Given the description of an element on the screen output the (x, y) to click on. 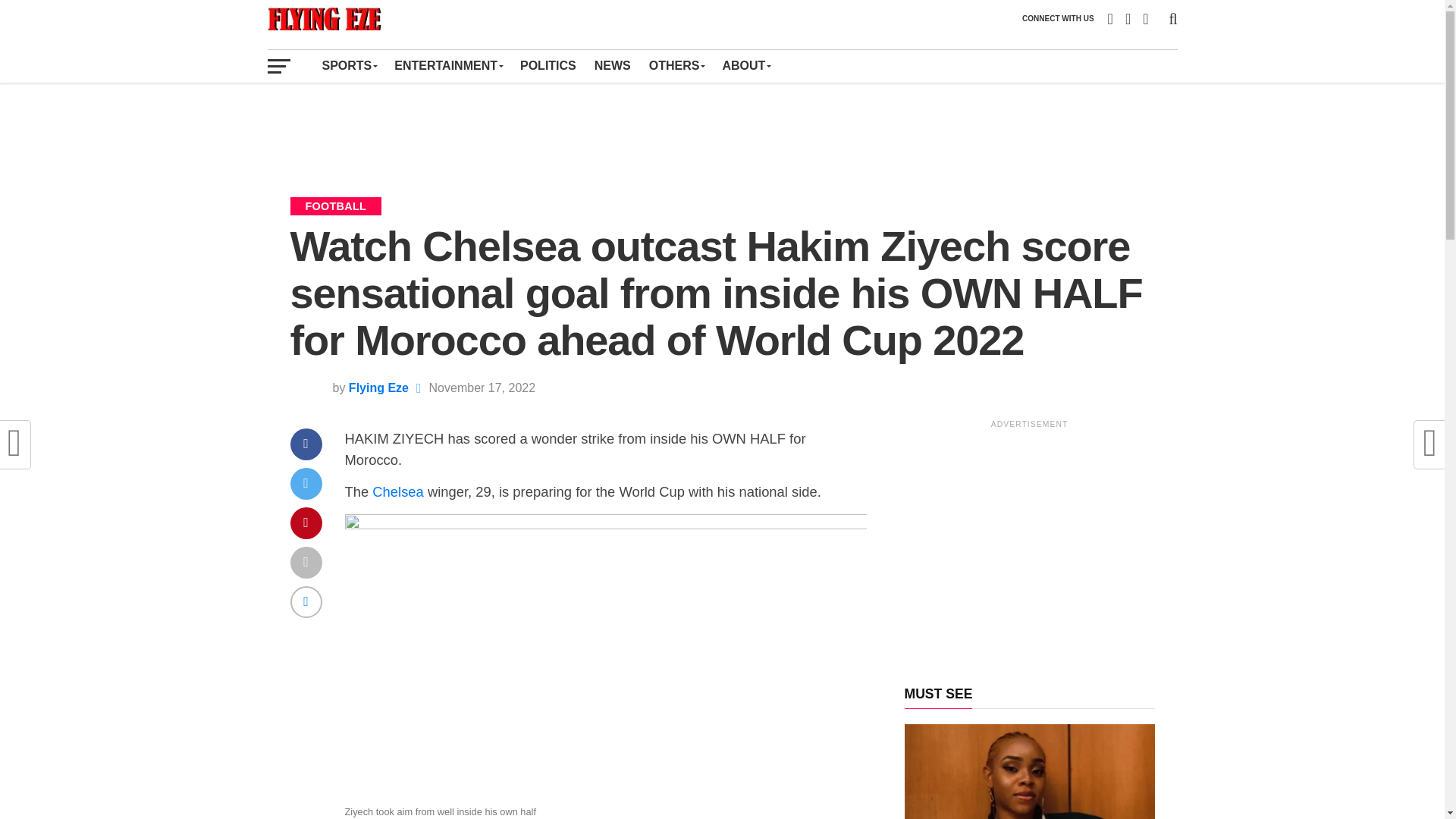
OTHERS (676, 65)
POLITICS (548, 65)
SPORTS (349, 65)
ENTERTAINMENT (448, 65)
Advertisement (721, 128)
Posts by Flying Eze (379, 387)
NEWS (612, 65)
ABOUT (745, 65)
